Given the description of an element on the screen output the (x, y) to click on. 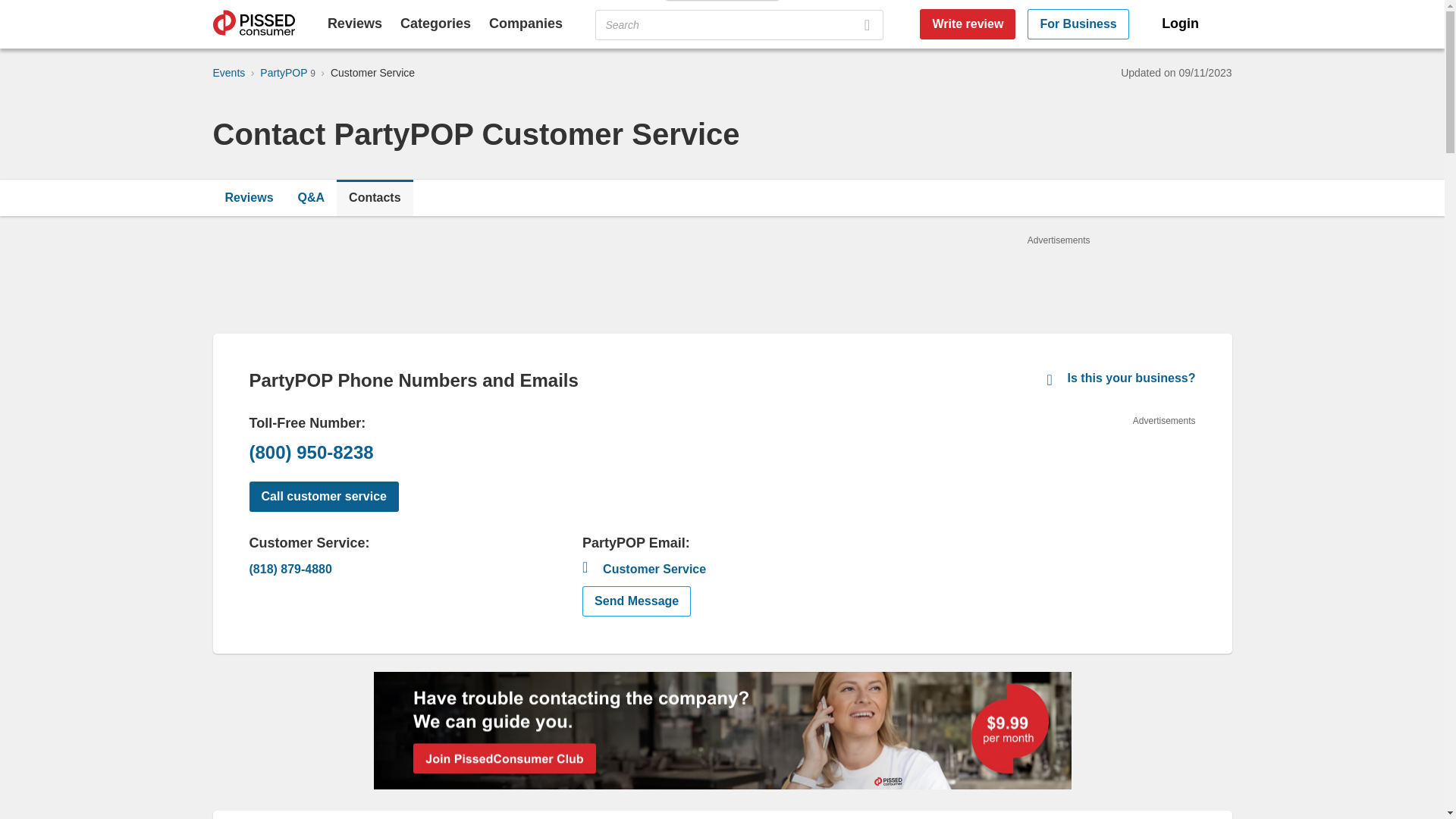
Events (228, 72)
Reviews (354, 23)
PissedConsumer (253, 23)
Reviews (248, 197)
Contacts (374, 197)
For Business (1077, 24)
PartyPOP (285, 72)
Categories (435, 23)
Call customer service (322, 496)
Companies (525, 23)
Write review (967, 24)
Advertisement (1081, 522)
PartyPOP reviews (248, 197)
